Given the description of an element on the screen output the (x, y) to click on. 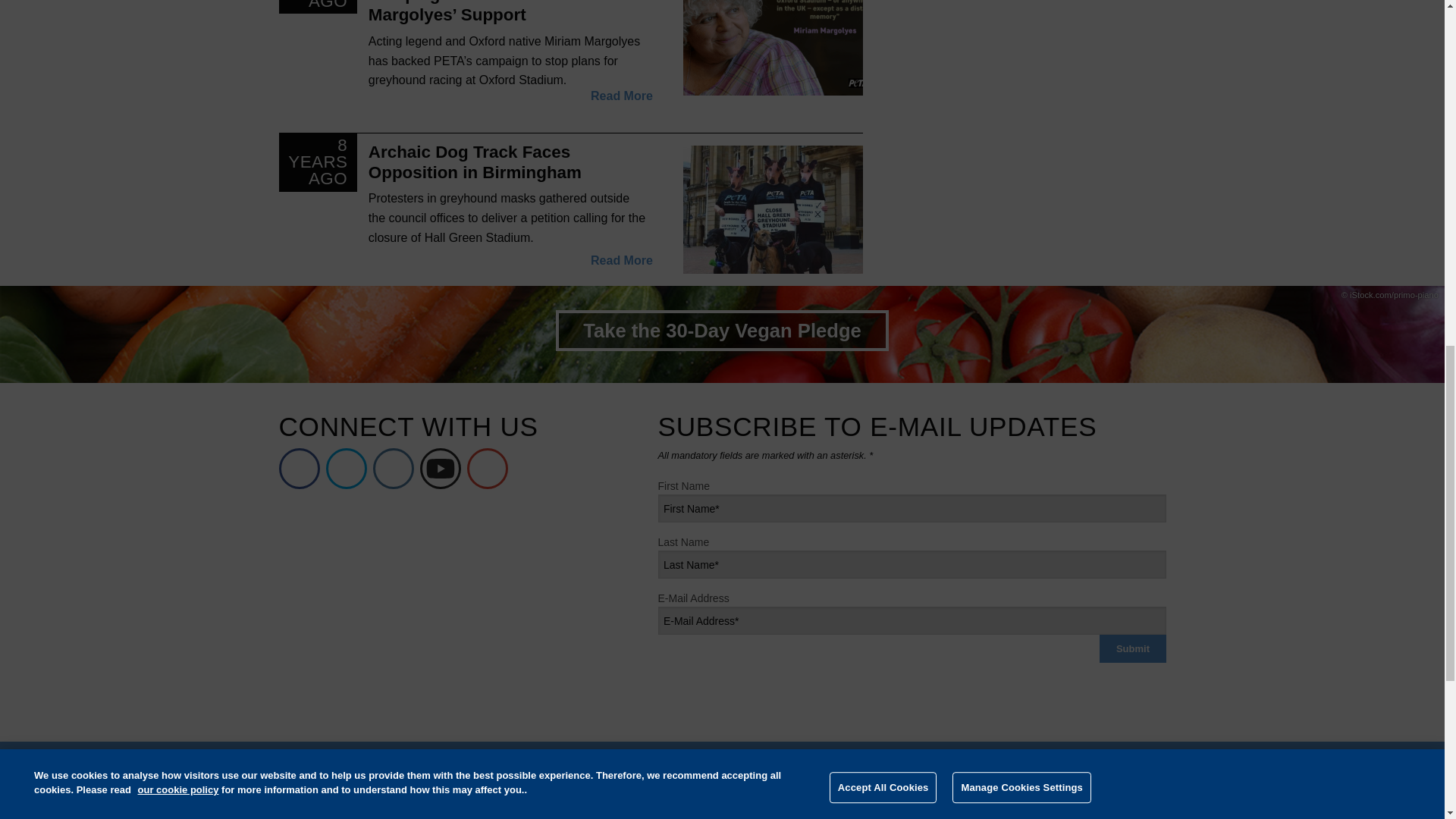
Submit (1132, 648)
